Given the description of an element on the screen output the (x, y) to click on. 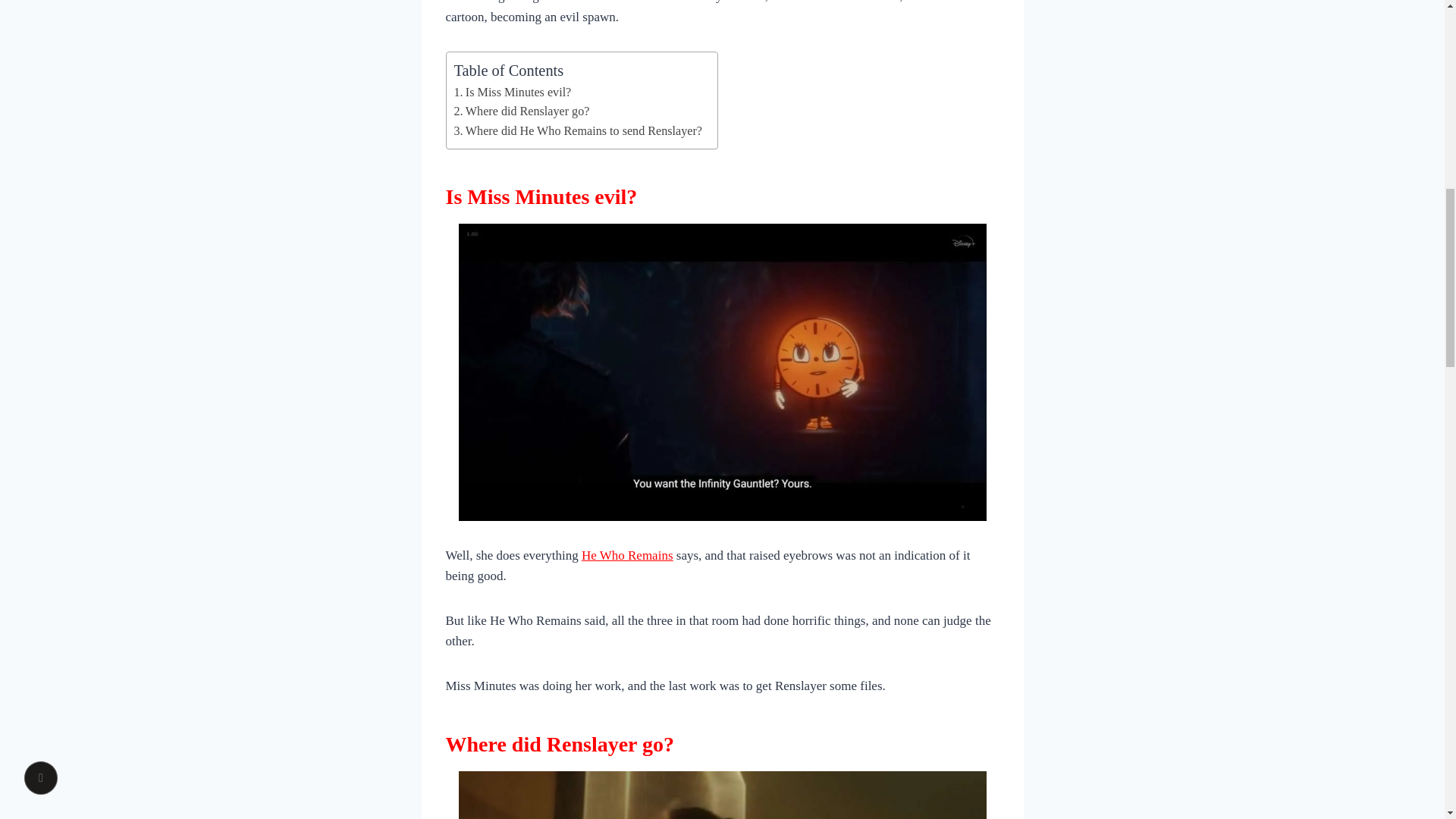
Where did He Who Remains to send Renslayer? (576, 130)
Where did Renslayer go? (520, 111)
Is Miss Minutes evil? (511, 92)
He Who Remains (626, 554)
Where did He Who Remains to send Renslayer? (576, 130)
Is Miss Minutes evil? (511, 92)
Where did Renslayer go? (520, 111)
